Given the description of an element on the screen output the (x, y) to click on. 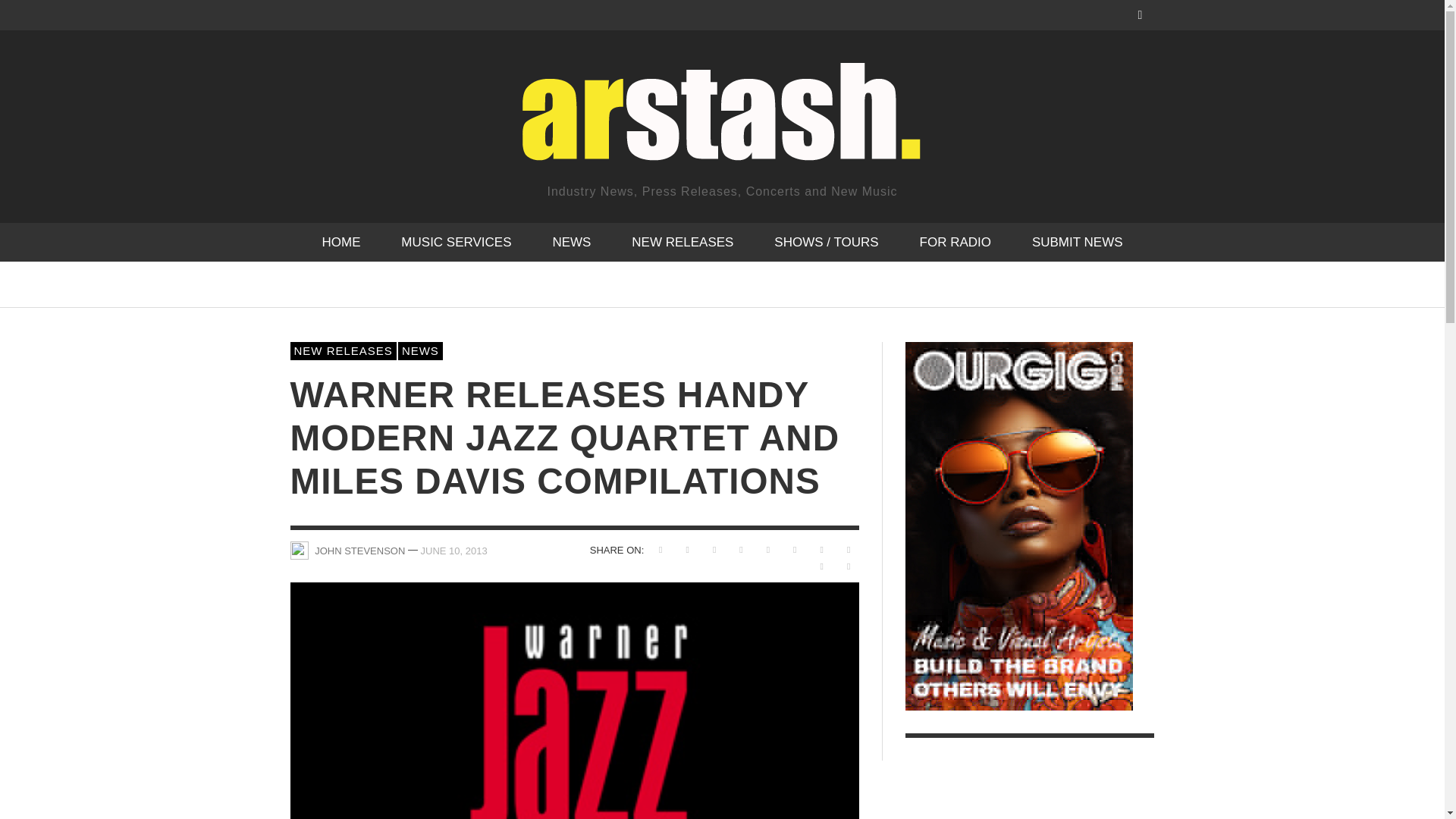
FOR RADIO (955, 241)
SUBMIT NEWS (1077, 241)
NEW RELEASES (682, 241)
Industry News, Press Releases, Concerts and New Music (721, 126)
MUSIC SERVICES (455, 241)
HOME (340, 241)
NEWS (571, 241)
